Given the description of an element on the screen output the (x, y) to click on. 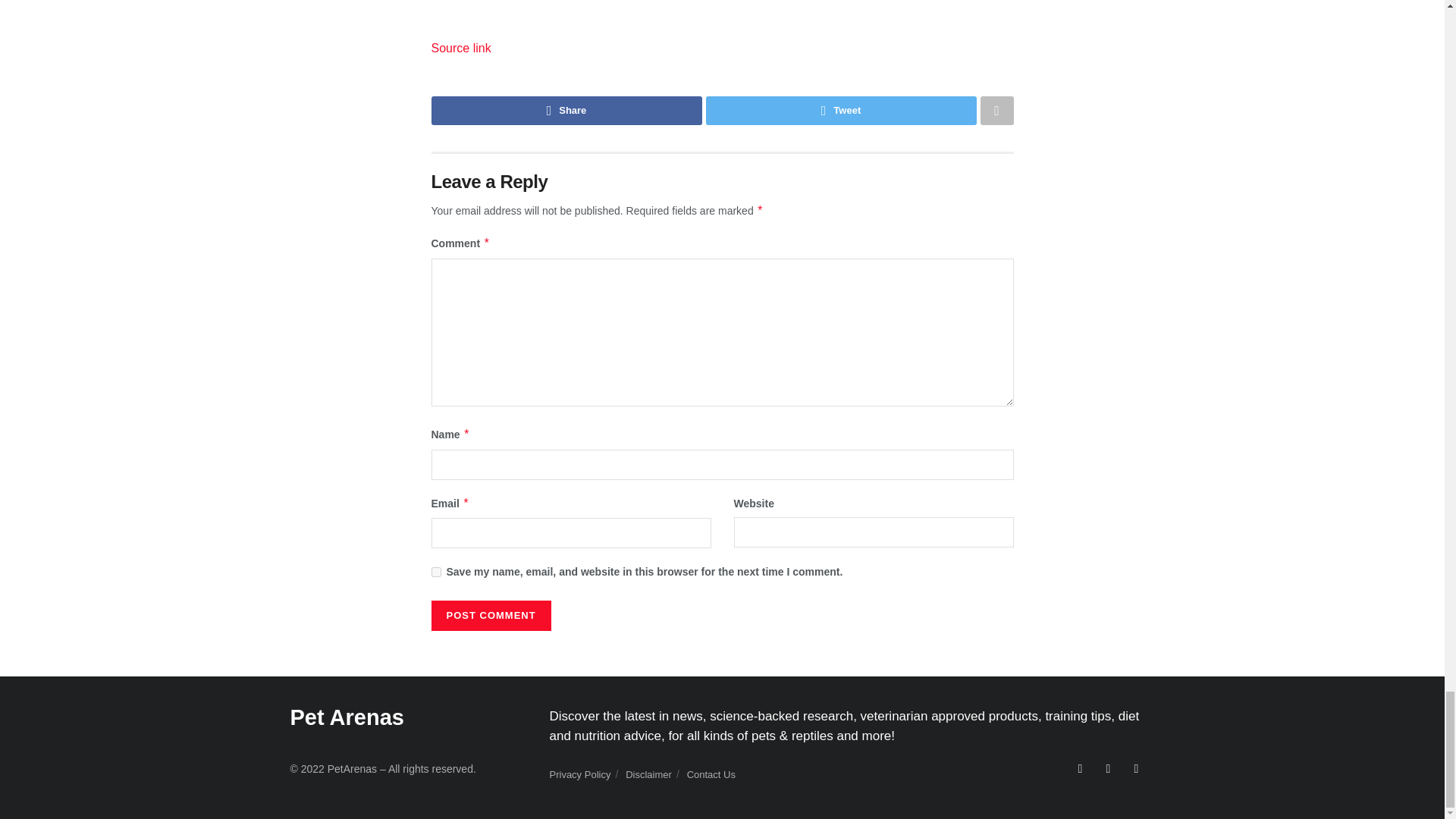
Disclaimer (648, 774)
Privacy Policy (579, 774)
Source link (460, 47)
Share (565, 110)
Tweet (839, 110)
Post Comment (490, 615)
Contact Us (711, 774)
Post Comment (490, 615)
yes (435, 572)
